Given the description of an element on the screen output the (x, y) to click on. 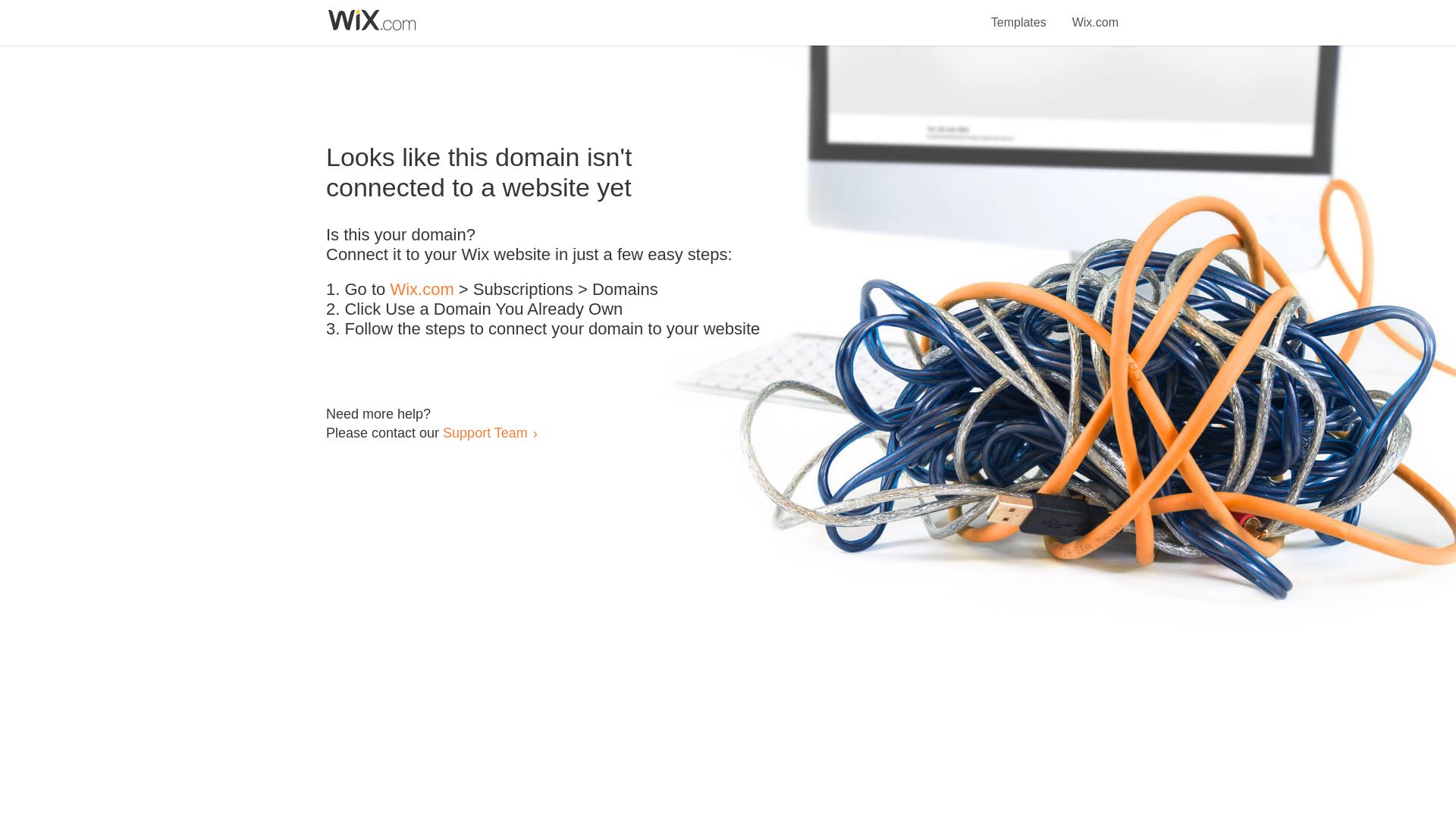
Wix.com (421, 289)
Templates (1018, 14)
Wix.com (1095, 14)
Support Team (484, 432)
